Given the description of an element on the screen output the (x, y) to click on. 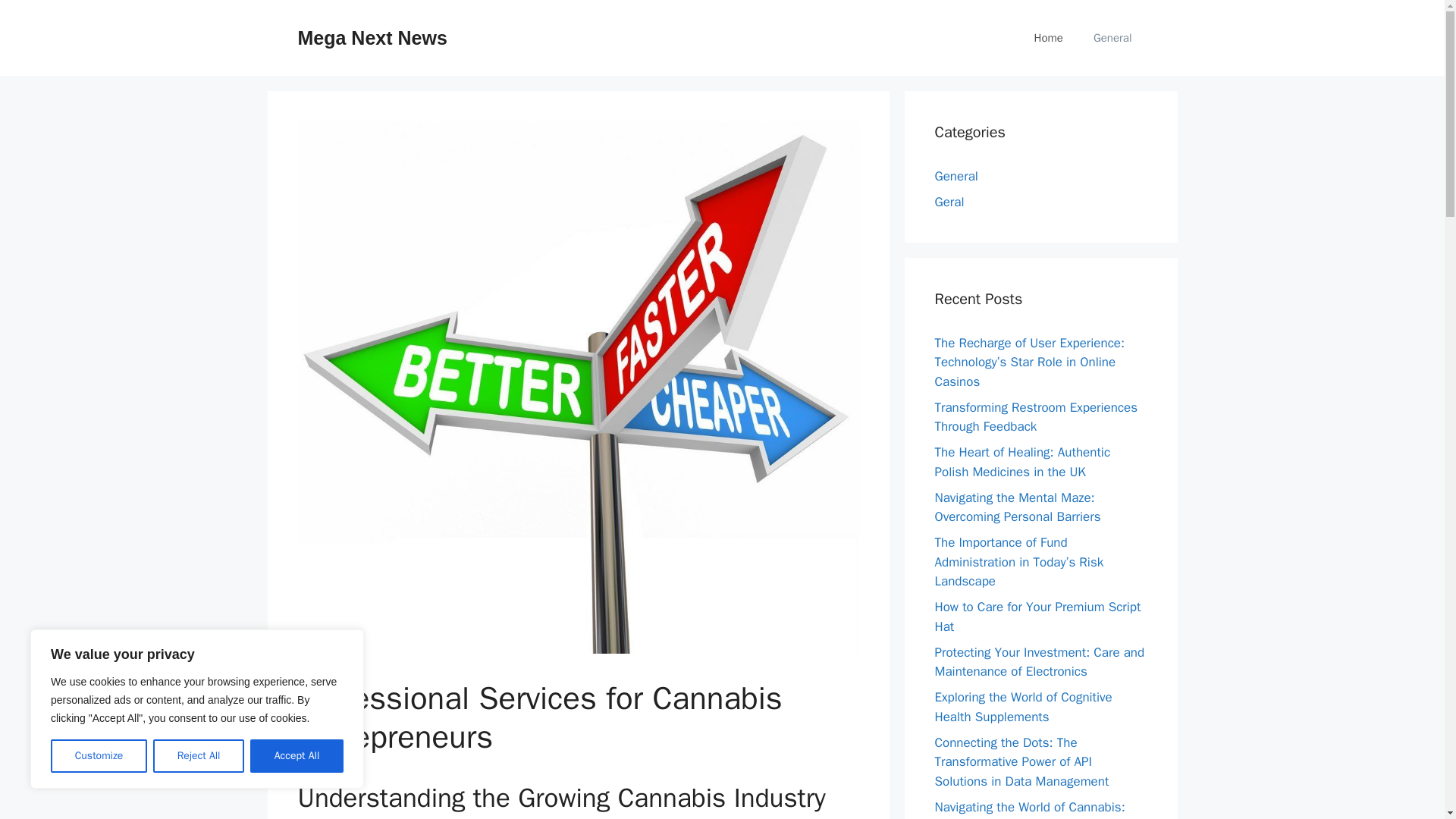
Mega Next News (371, 37)
General (955, 176)
Accept All (296, 756)
The Heart of Healing: Authentic Polish Medicines in the UK (1021, 461)
Geral (948, 201)
Customize (98, 756)
Reject All (198, 756)
General (1112, 37)
Transforming Restroom Experiences Through Feedback (1035, 416)
Navigating the Mental Maze: Overcoming Personal Barriers (1017, 507)
